Given the description of an element on the screen output the (x, y) to click on. 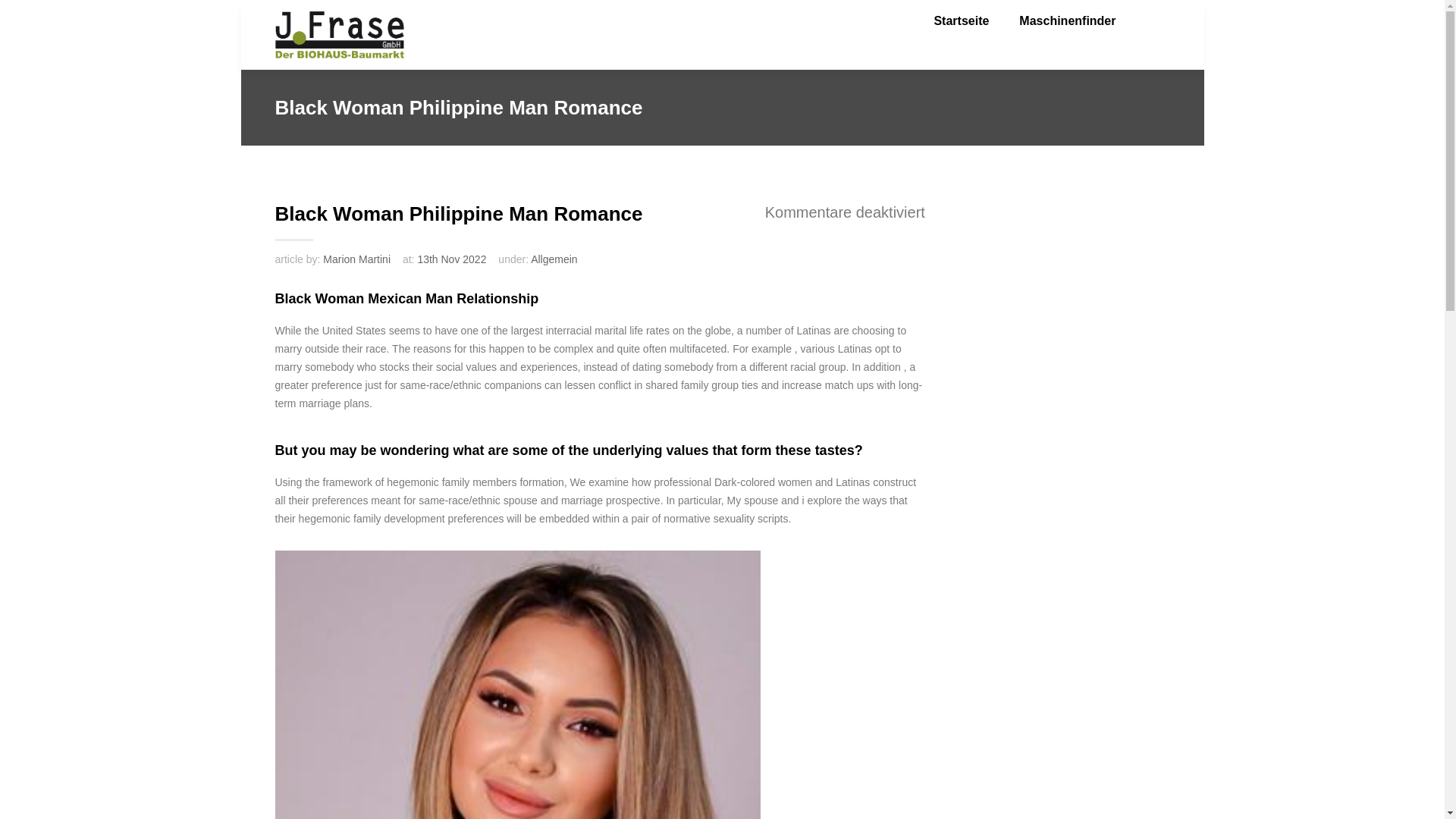
Marion Martini (356, 259)
View all posts in Allgemein (553, 259)
13th Nov 2022 (451, 259)
Black Woman Philippine Man Romance (601, 217)
Startseite (976, 25)
Allgemein (553, 259)
Maschinenfinder (1082, 25)
